Given the description of an element on the screen output the (x, y) to click on. 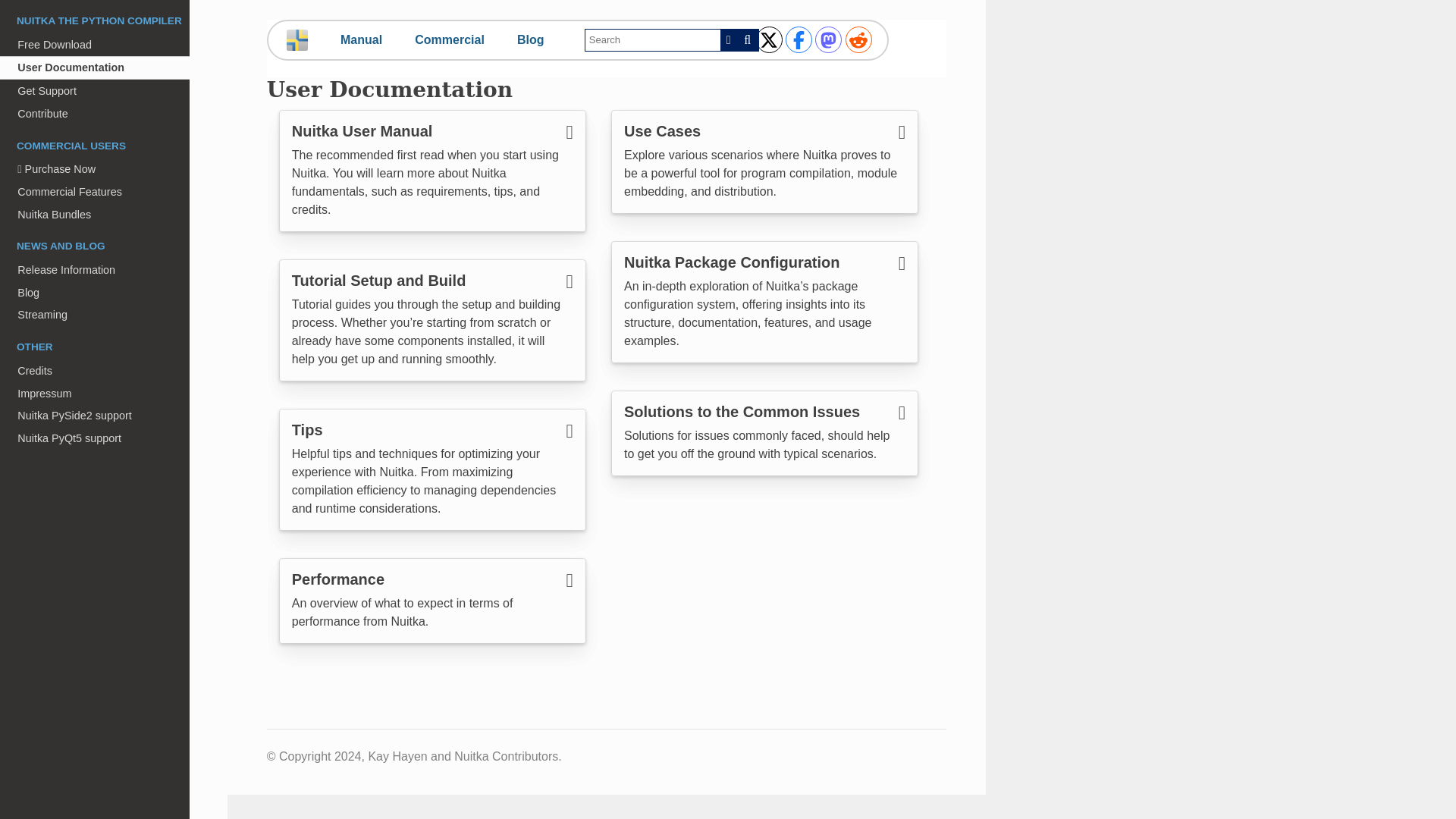
Get Support (94, 90)
Blog (94, 292)
Release Information (94, 269)
Search (747, 39)
Nuitka PySide2 support (94, 415)
Blog (530, 39)
Nuitka PyQt5 support (94, 437)
Commercial (449, 39)
Manual (360, 39)
Impressum (94, 393)
Free Download (94, 44)
Streaming (94, 314)
User Documentation (94, 68)
Commercial Features (94, 191)
